Given the description of an element on the screen output the (x, y) to click on. 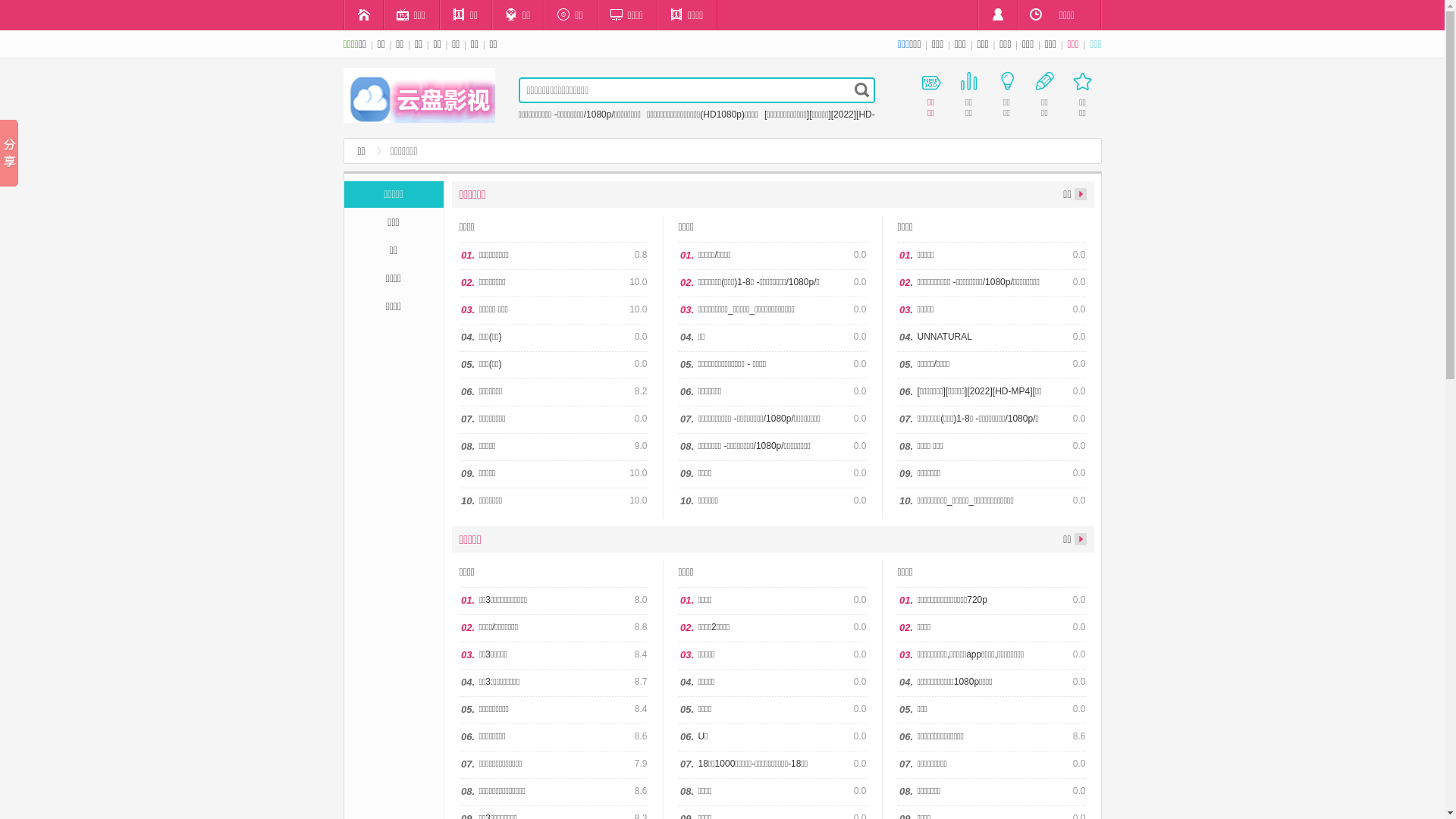
04.
UNNATURAL
0.0 Element type: text (991, 337)
